Given the description of an element on the screen output the (x, y) to click on. 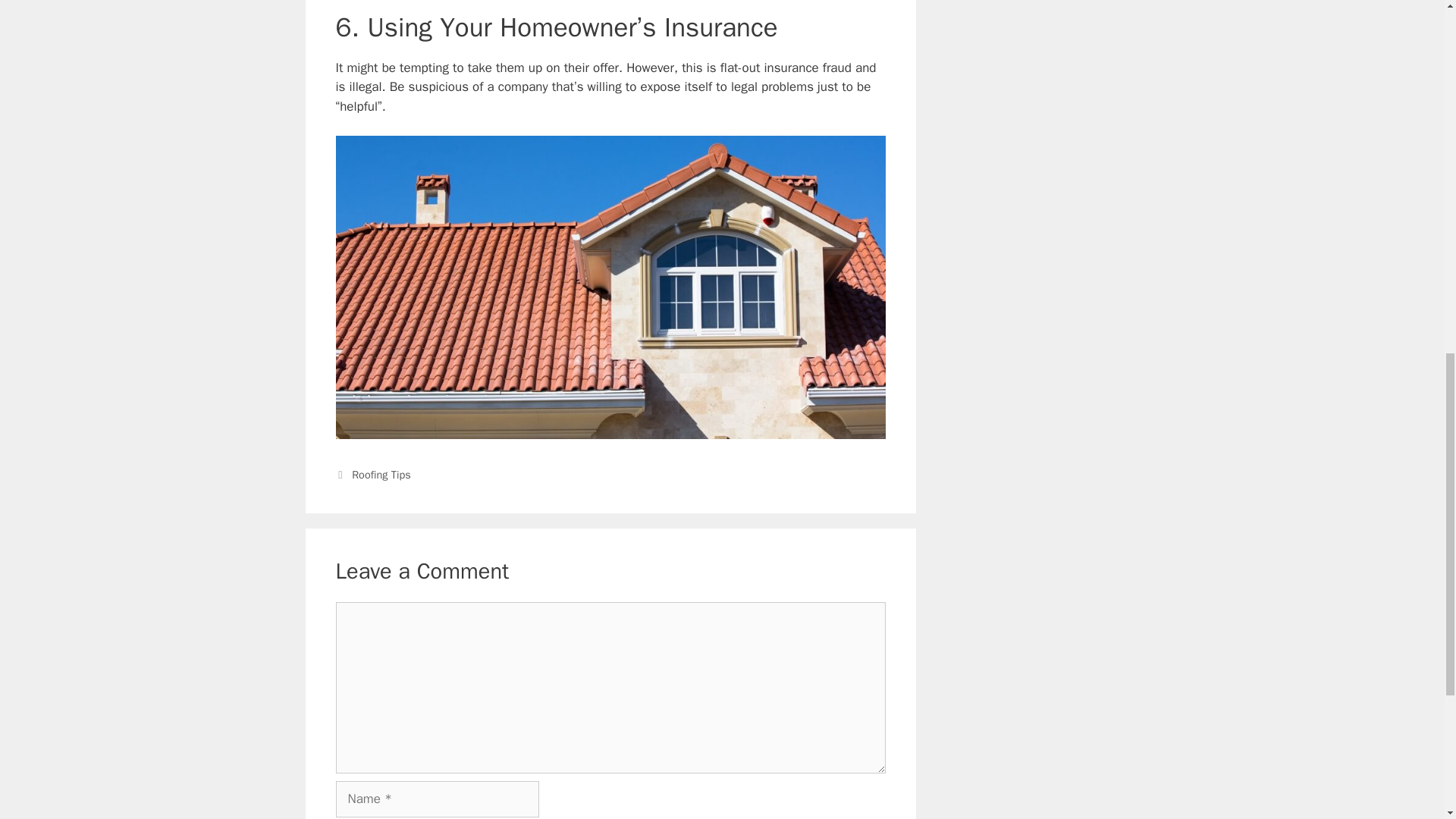
Roofing Tips (381, 474)
